Given the description of an element on the screen output the (x, y) to click on. 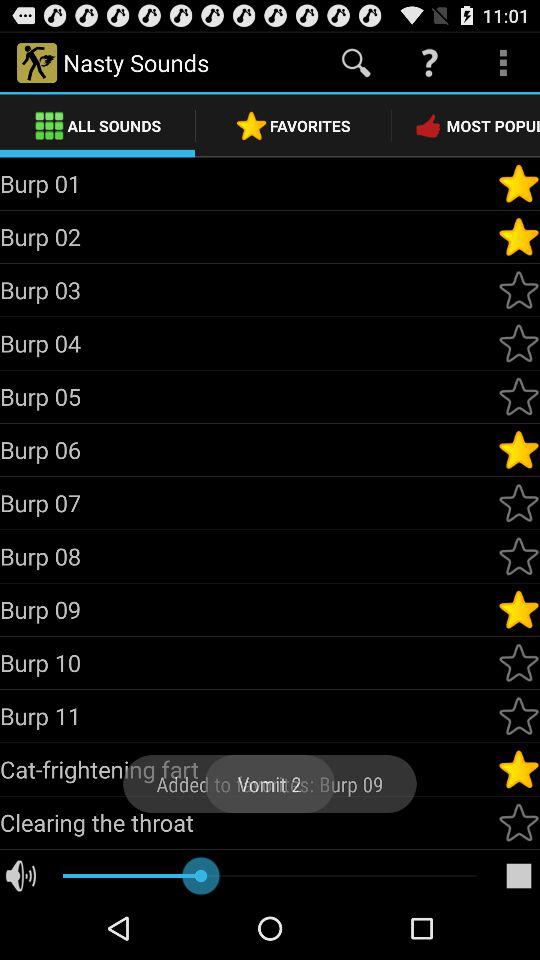
toggle favorite sound (519, 609)
